Given the description of an element on the screen output the (x, y) to click on. 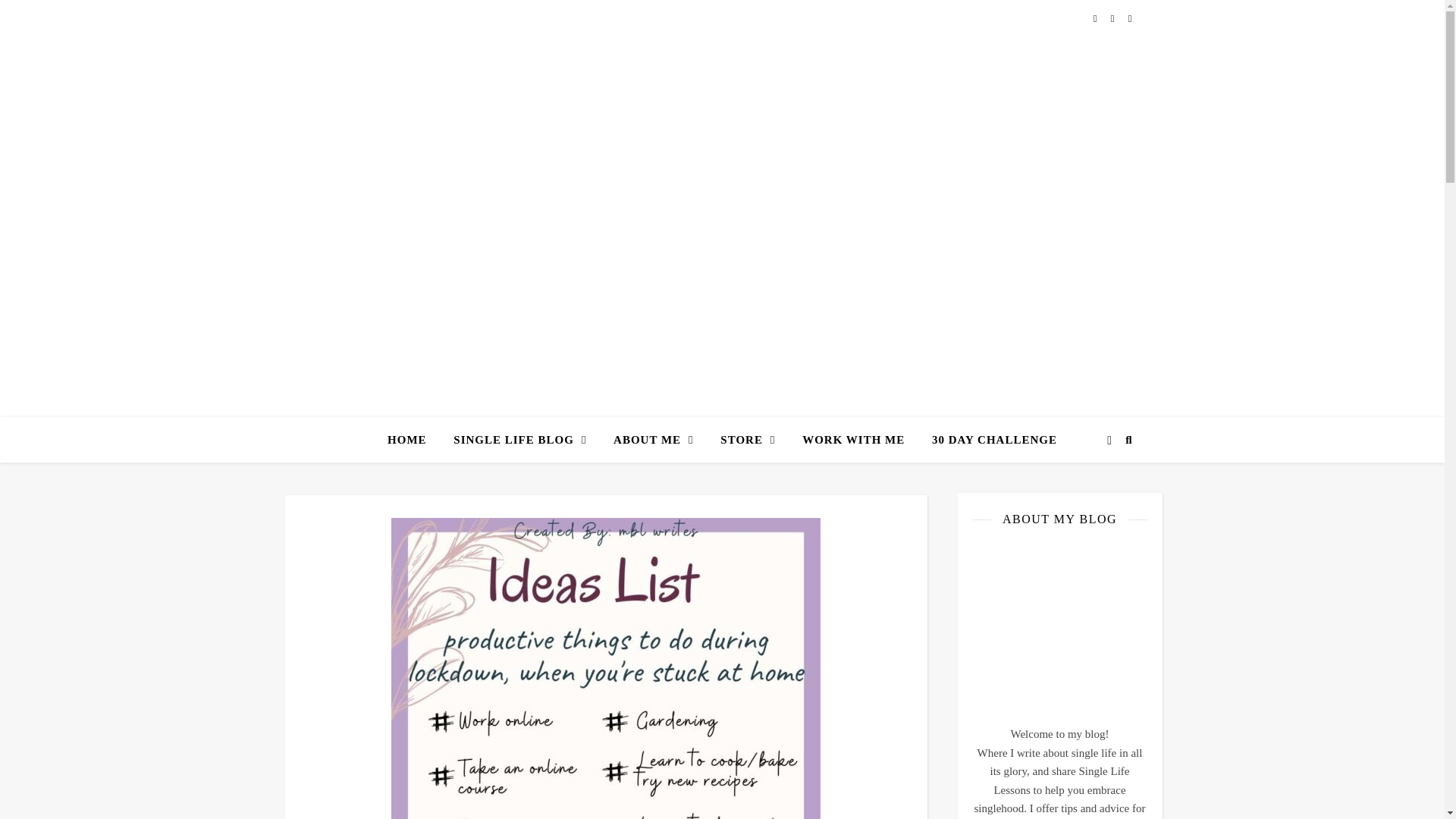
HOME (413, 439)
SINGLE LIFE BLOG (519, 439)
WORK WITH ME (853, 439)
STORE (747, 439)
ABOUT ME (652, 439)
30 DAY CHALLENGE (988, 439)
